Given the description of an element on the screen output the (x, y) to click on. 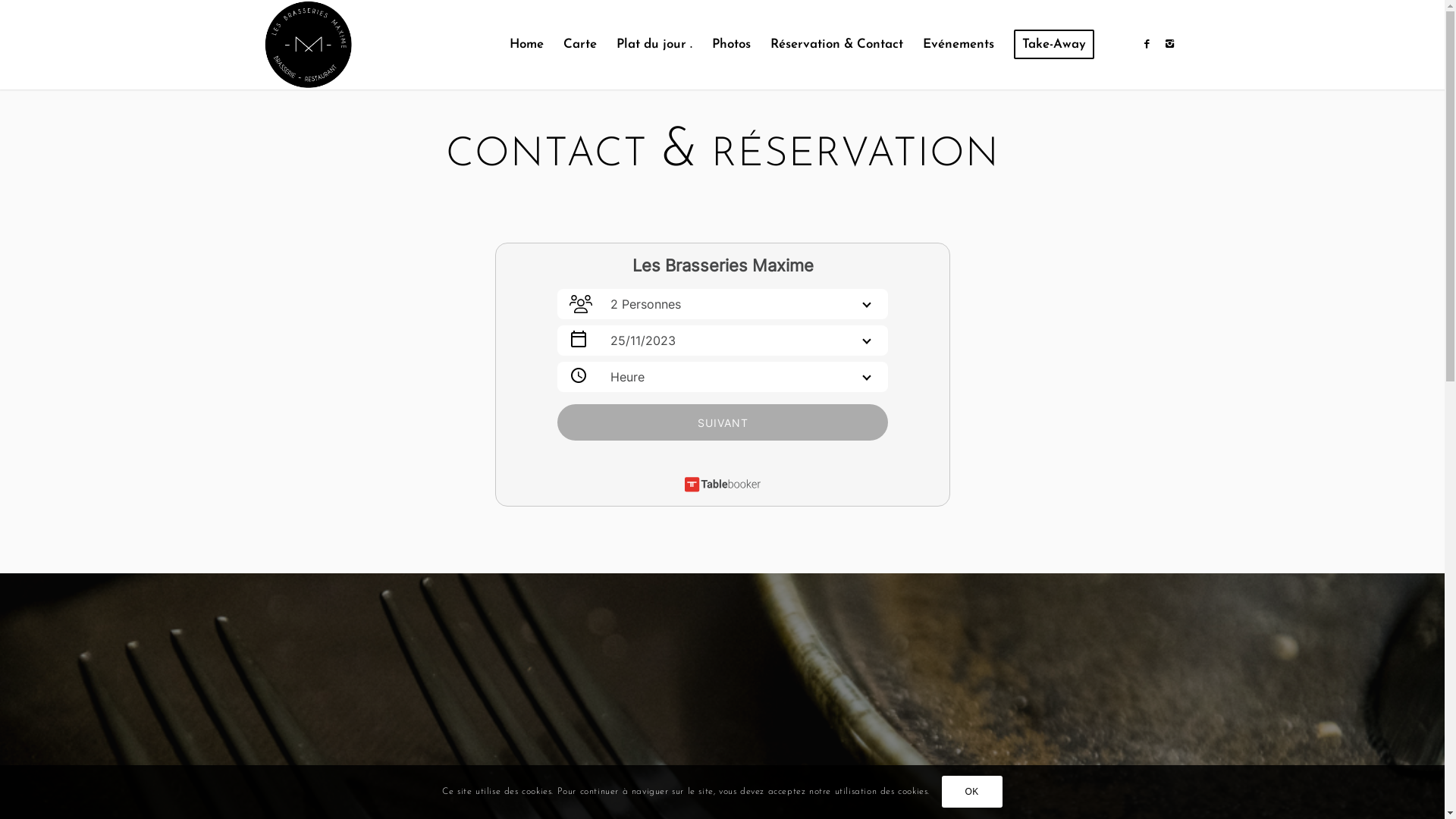
Photos Element type: text (731, 44)
Instagram Element type: hover (1169, 43)
Take-Away Element type: text (1054, 44)
Carte Element type: text (579, 44)
OK Element type: text (971, 791)
Facebook Element type: hover (1146, 43)
Plat du jour . Element type: text (654, 44)
Home Element type: text (525, 44)
